Given the description of an element on the screen output the (x, y) to click on. 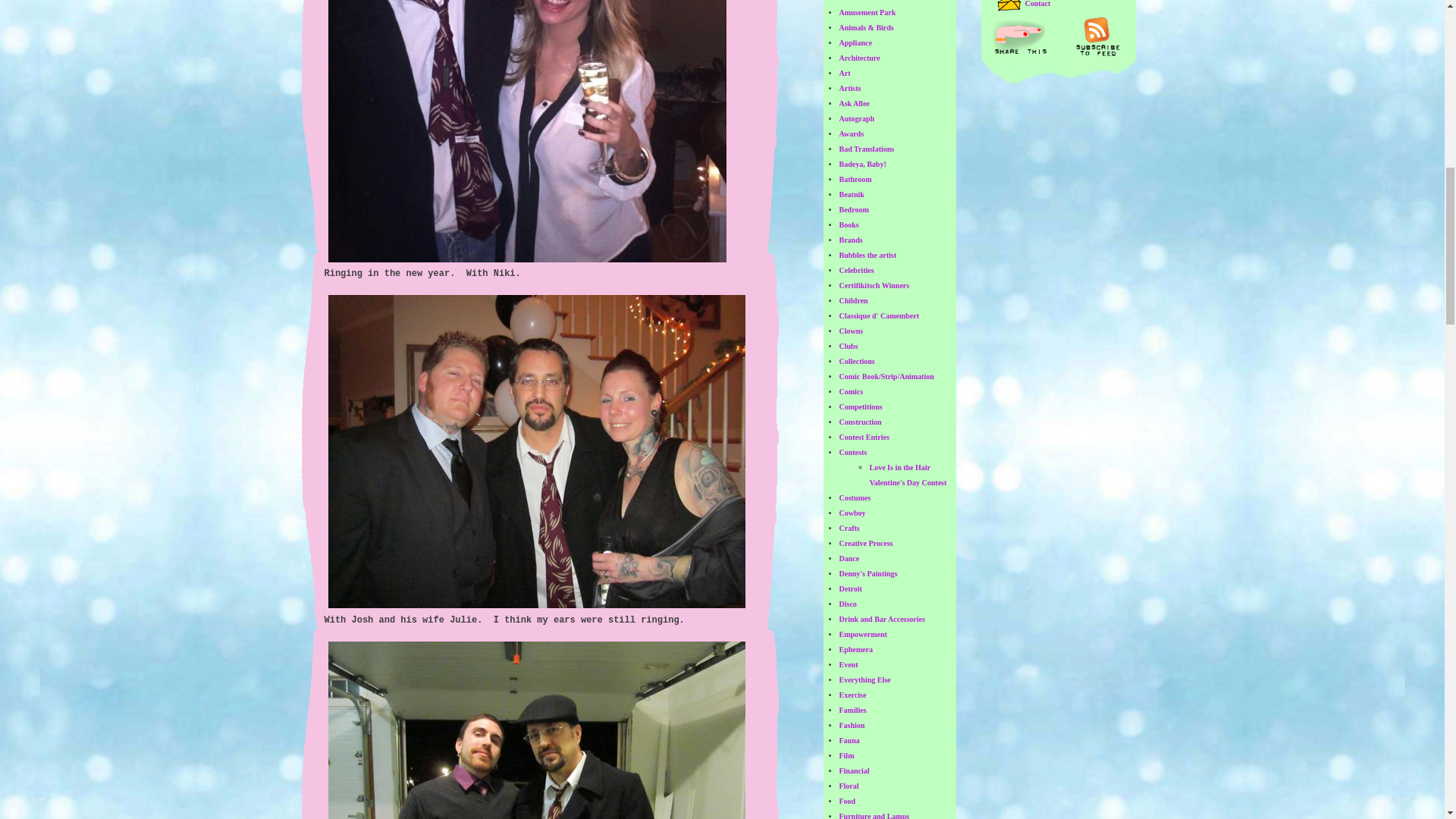
Subscribe using any feed reader! (1097, 36)
